Given the description of an element on the screen output the (x, y) to click on. 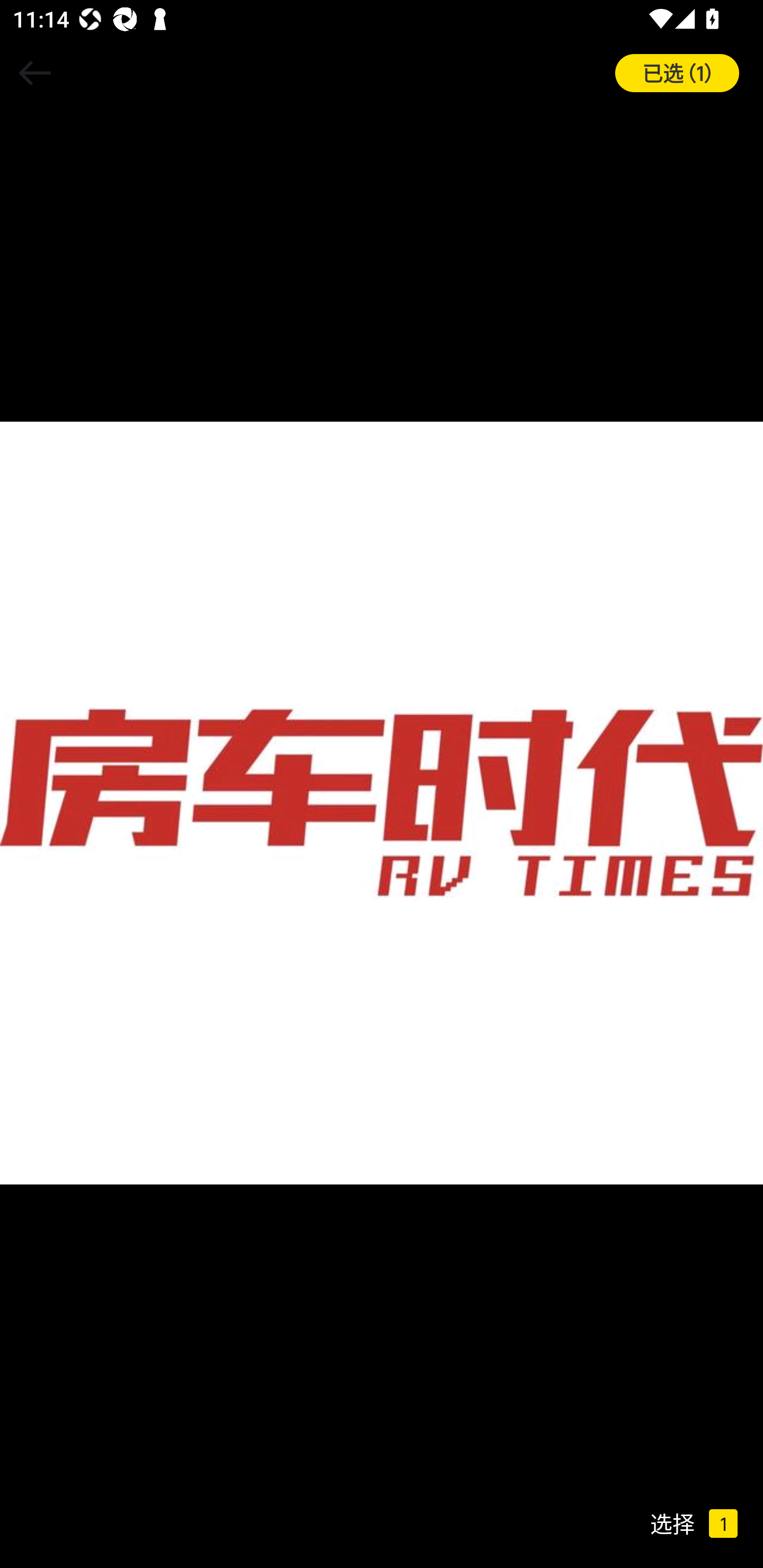
 (35, 72)
已选 （1） (688, 72)
选择 1 (706, 1523)
